Given the description of an element on the screen output the (x, y) to click on. 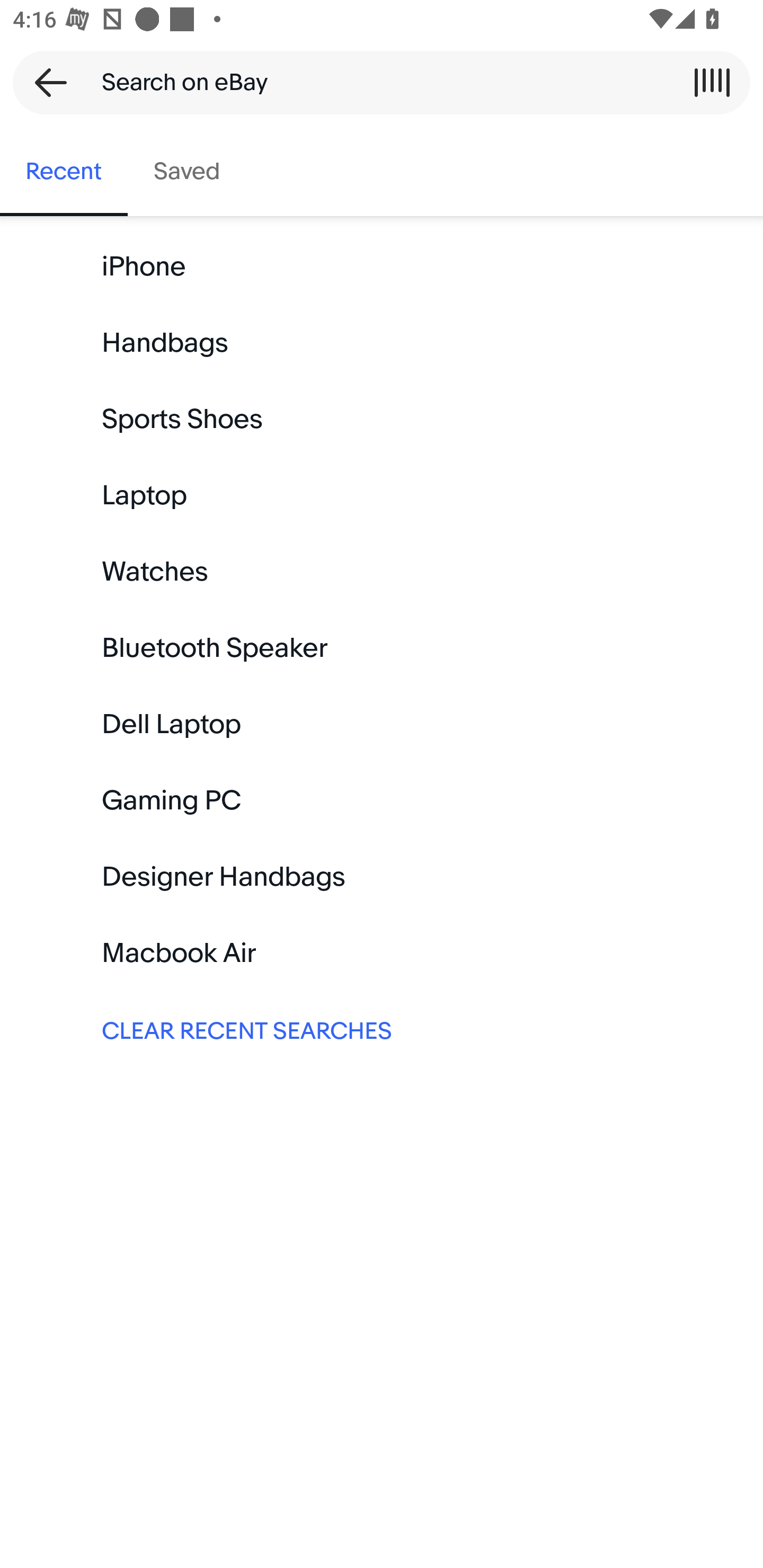
Back (44, 82)
Scan a barcode (711, 82)
Search on eBay (375, 82)
Saved, tab 2 of 2 Saved (186, 171)
iPhone Keyword search iPhone: (381, 266)
Handbags Keyword search Handbags: (381, 343)
Sports Shoes Keyword search Sports Shoes: (381, 419)
Laptop Keyword search Laptop: (381, 495)
Watches Keyword search Watches: (381, 571)
Dell Laptop Keyword search Dell Laptop: (381, 724)
Gaming PC Keyword search Gaming PC: (381, 800)
Macbook Air Keyword search Macbook Air: (381, 952)
CLEAR RECENT SEARCHES (381, 1028)
